Given the description of an element on the screen output the (x, y) to click on. 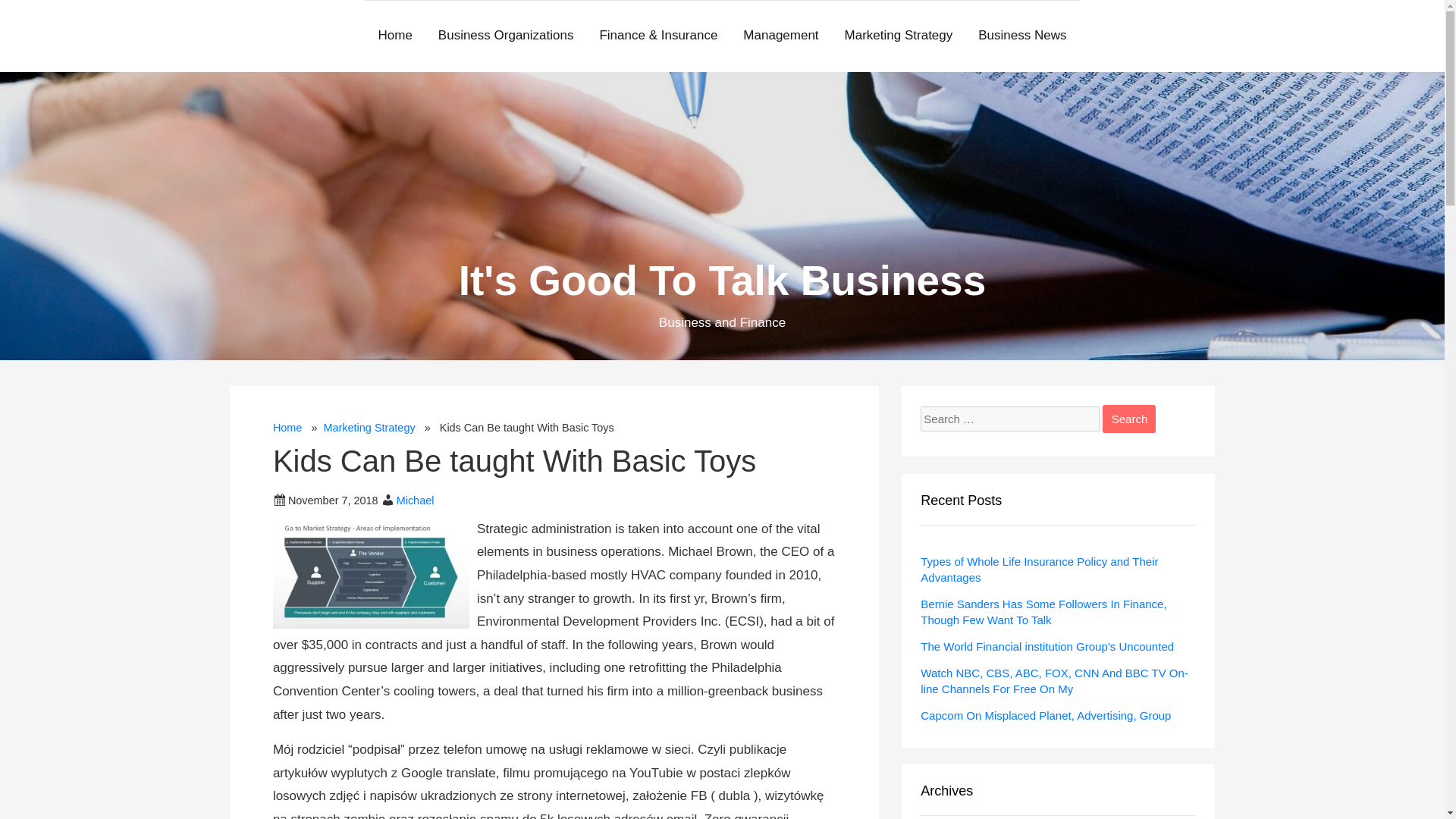
It's Good To Talk Business (722, 280)
Business News (1021, 36)
Management (780, 36)
Types of Whole Life Insurance Policy and Their Advantages (1038, 569)
Michael (414, 500)
Marketing Strategy (368, 427)
Capcom On Misplaced Planet, Advertising, Group (1045, 714)
Marketing Strategy (898, 36)
